Given the description of an element on the screen output the (x, y) to click on. 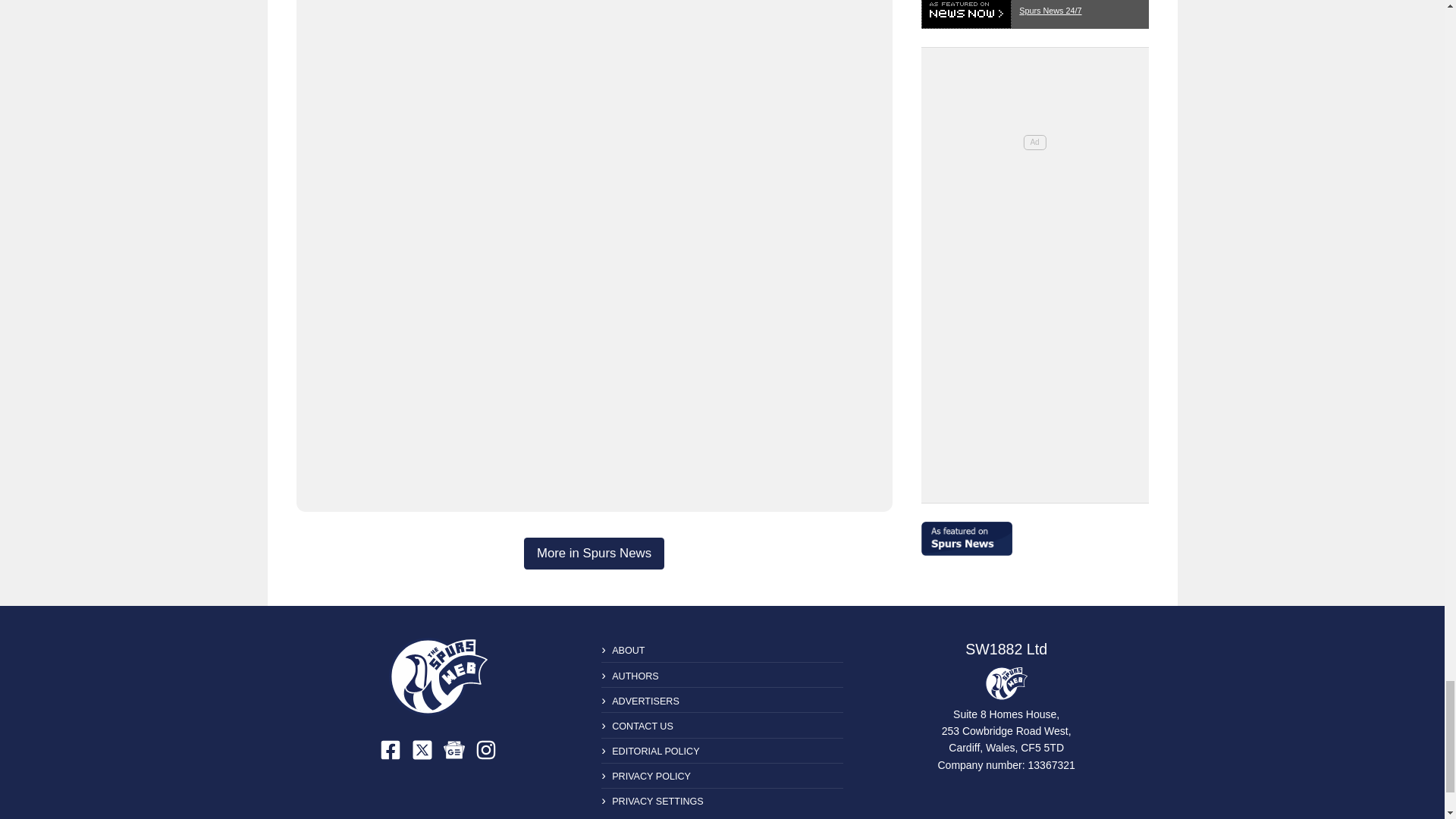
More in Spurs News (593, 553)
The Spurs Web - Tottenham Hotspur Football News on Facebook (390, 749)
The Spurs Web - Tottenham Hotspur Football News on Instagram (486, 749)
The Spurs Web - Tottenham Hotspur Football News on X (422, 749)
The Spurs Web - Tottenham Hotspur Football News (438, 676)
Spurs Web (1005, 683)
